Given the description of an element on the screen output the (x, y) to click on. 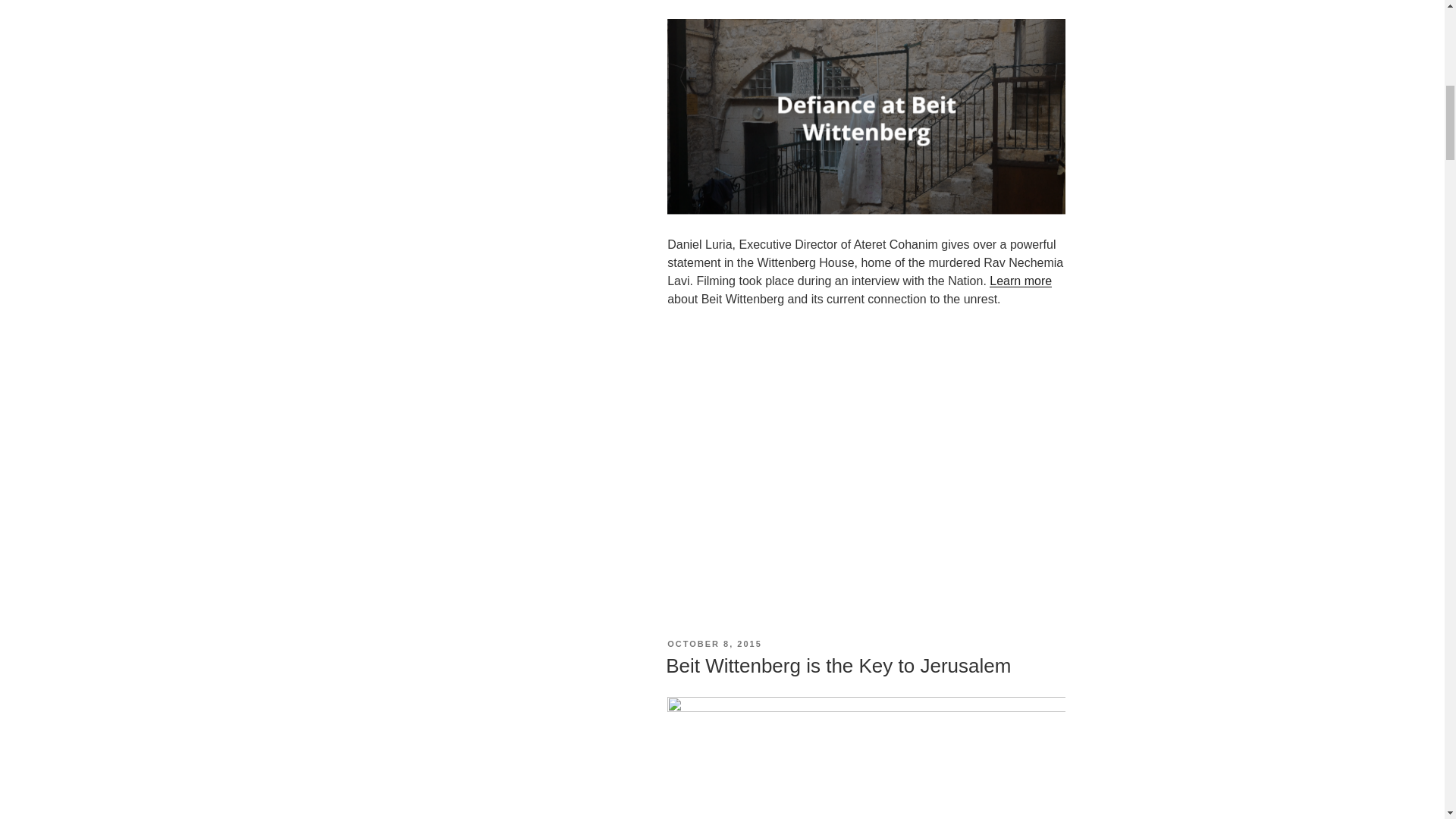
Learn more (1020, 280)
OCTOBER 8, 2015 (713, 643)
Beit Wittenberg is the Key to Jerusalem (837, 665)
